Given the description of an element on the screen output the (x, y) to click on. 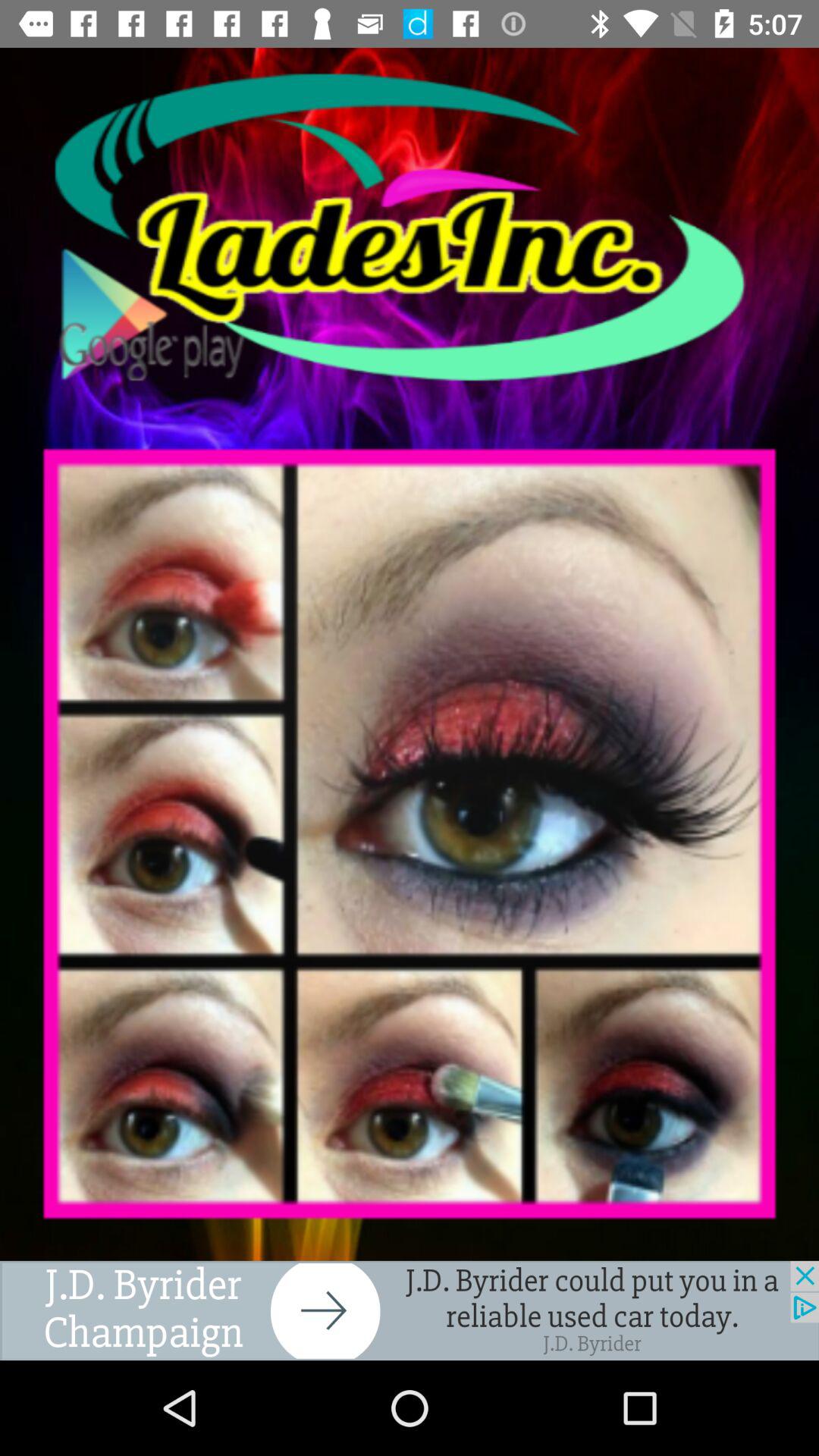
open advertisement (409, 1310)
